Given the description of an element on the screen output the (x, y) to click on. 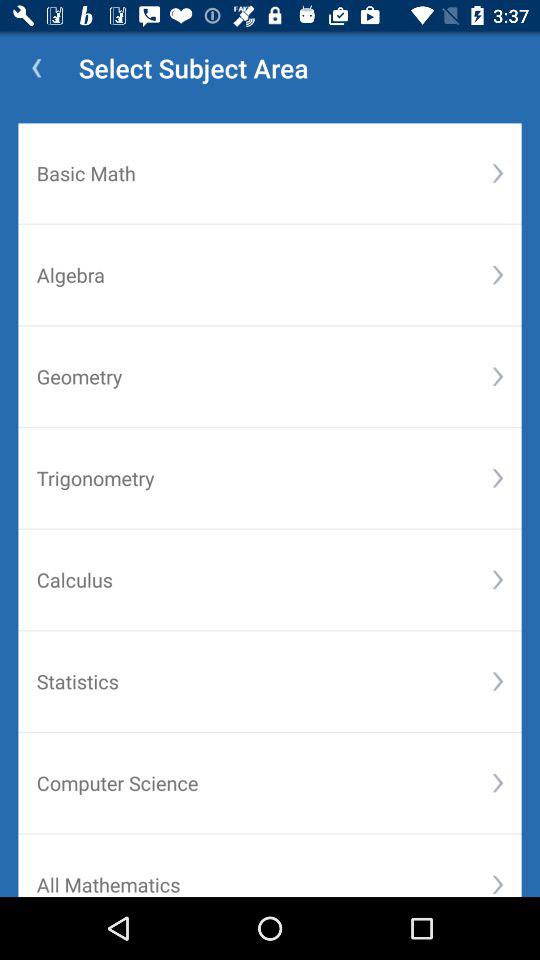
click item below basic math icon (497, 274)
